Given the description of an element on the screen output the (x, y) to click on. 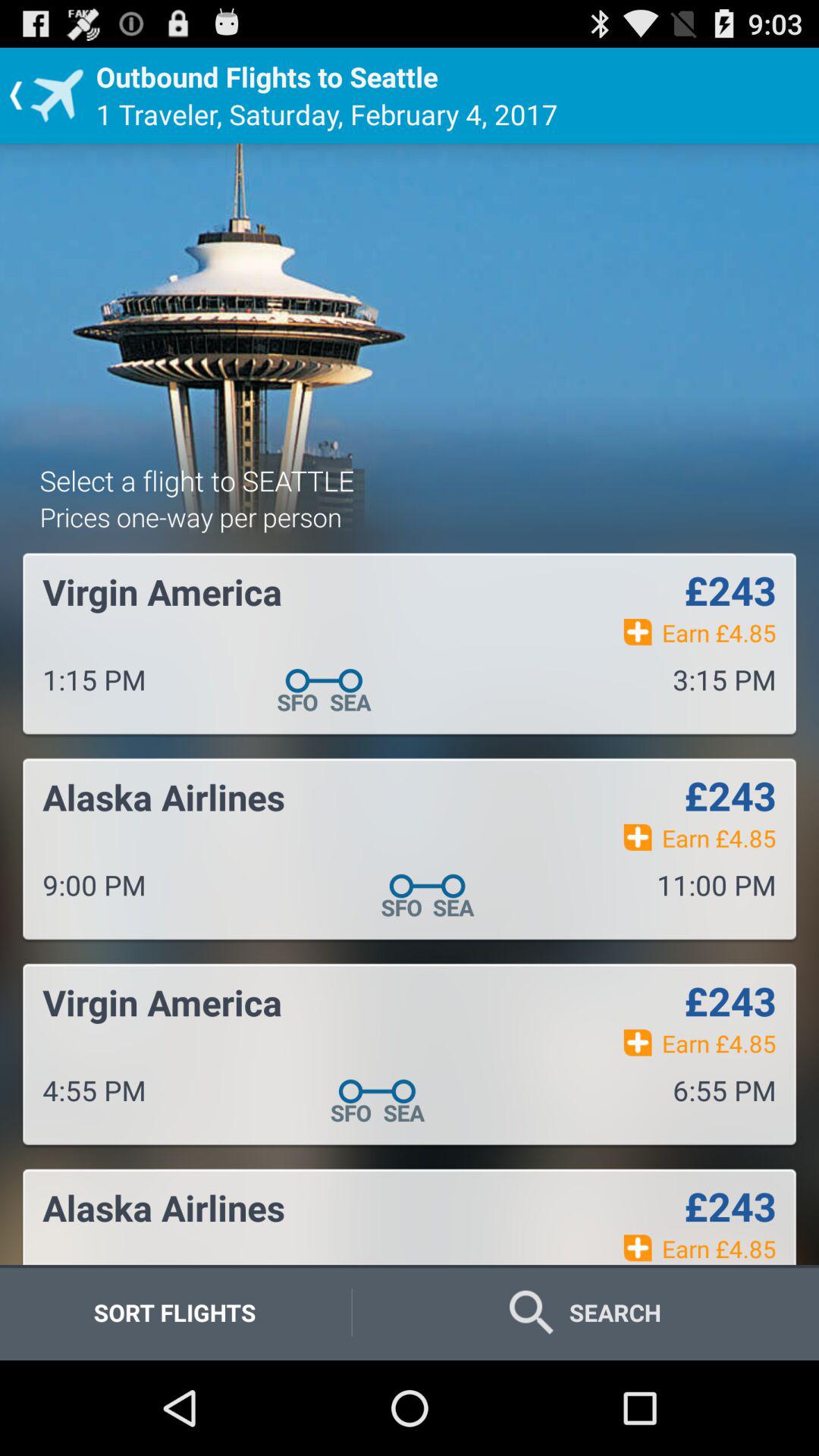
jump to sort flights (174, 1312)
